Given the description of an element on the screen output the (x, y) to click on. 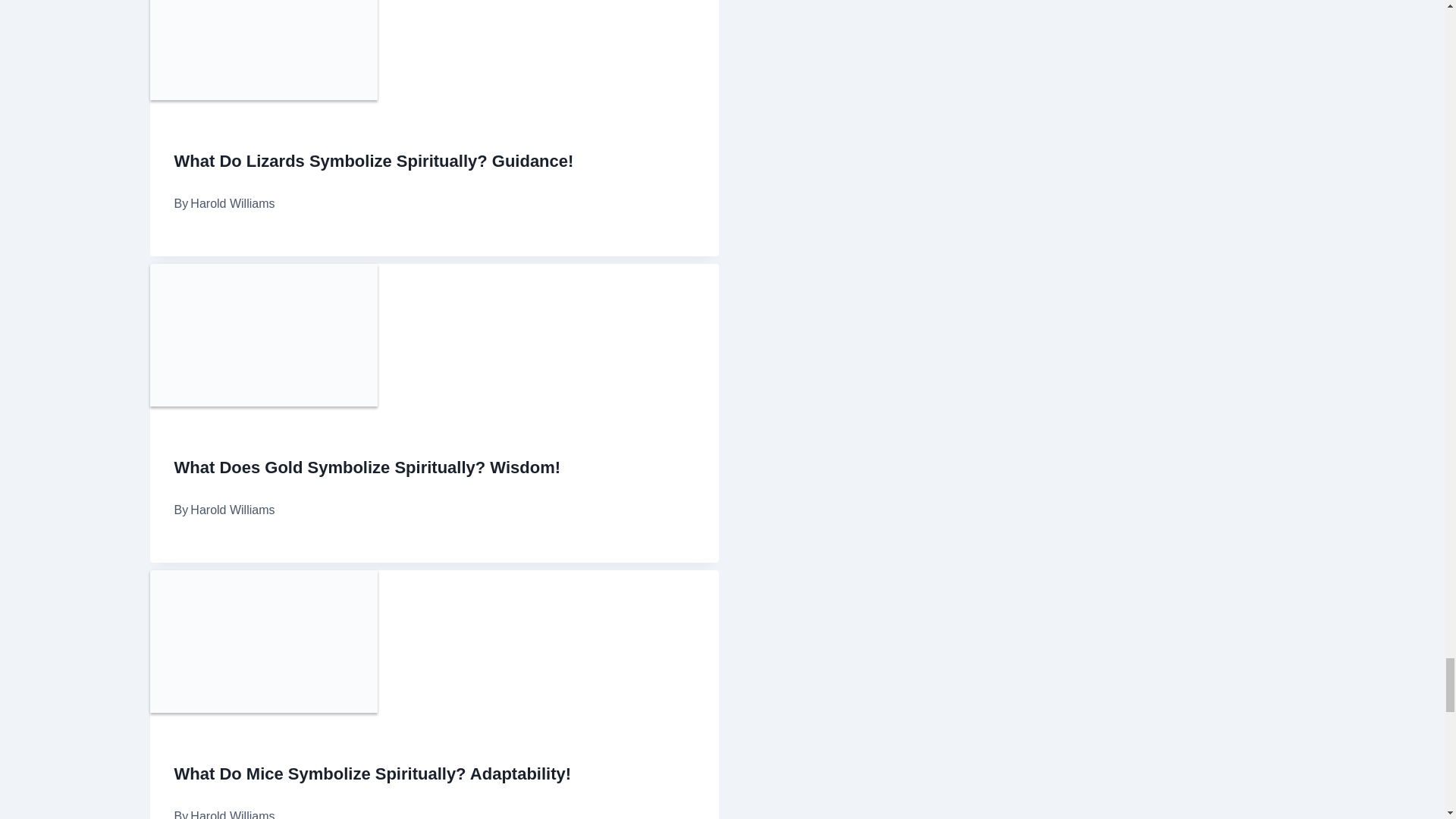
What Do Lizards Symbolize Spiritually? Guidance! (373, 160)
What Does Gold Symbolize Spiritually? Wisdom! (367, 466)
